Given the description of an element on the screen output the (x, y) to click on. 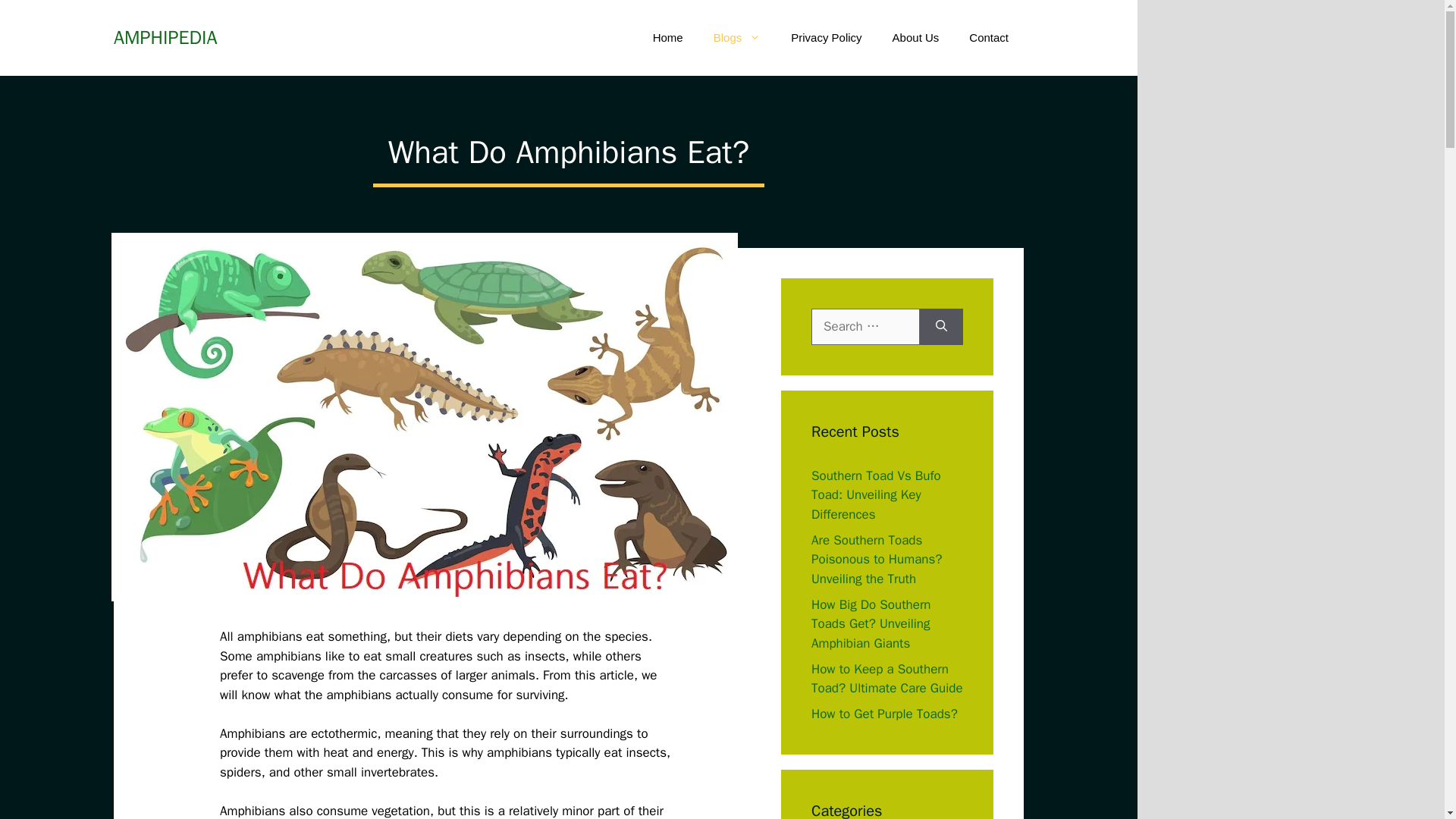
About Us (916, 37)
Blogs (737, 37)
How Big Do Southern Toads Get? Unveiling Amphibian Giants (870, 623)
Search for: (865, 326)
Are Southern Toads Poisonous to Humans? Unveiling the Truth (876, 559)
Home (667, 37)
Southern Toad Vs Bufo Toad: Unveiling Key Differences (875, 493)
How to Keep a Southern Toad? Ultimate Care Guide (886, 678)
Contact (988, 37)
How to Get Purple Toads? (884, 713)
Privacy Policy (826, 37)
AMPHIPEDIA (164, 38)
